Given the description of an element on the screen output the (x, y) to click on. 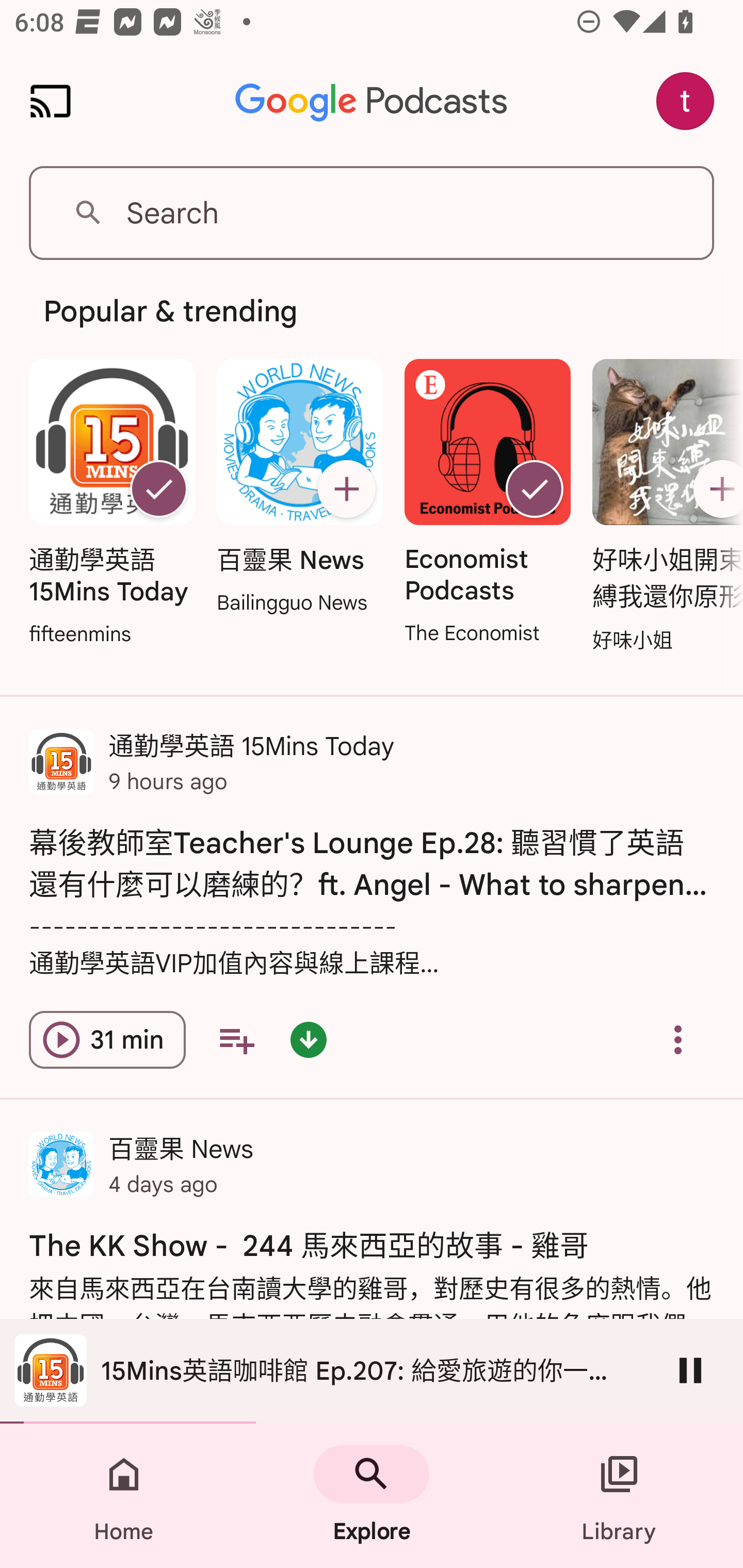
Cast. Disconnected (50, 101)
Search (371, 212)
百靈果 News Subscribe 百靈果 News Bailingguo News (299, 488)
好味小姐開束縛我還你原形 Subscribe 好味小姐開束縛我還你原形 好味小姐 (662, 507)
Unsubscribe (158, 489)
Subscribe (346, 489)
Unsubscribe (534, 489)
Subscribe (714, 489)
Add to your queue (235, 1040)
Episode downloaded - double tap for options (308, 1040)
Overflow menu (677, 1040)
Pause (690, 1370)
Home (123, 1495)
Library (619, 1495)
